Given the description of an element on the screen output the (x, y) to click on. 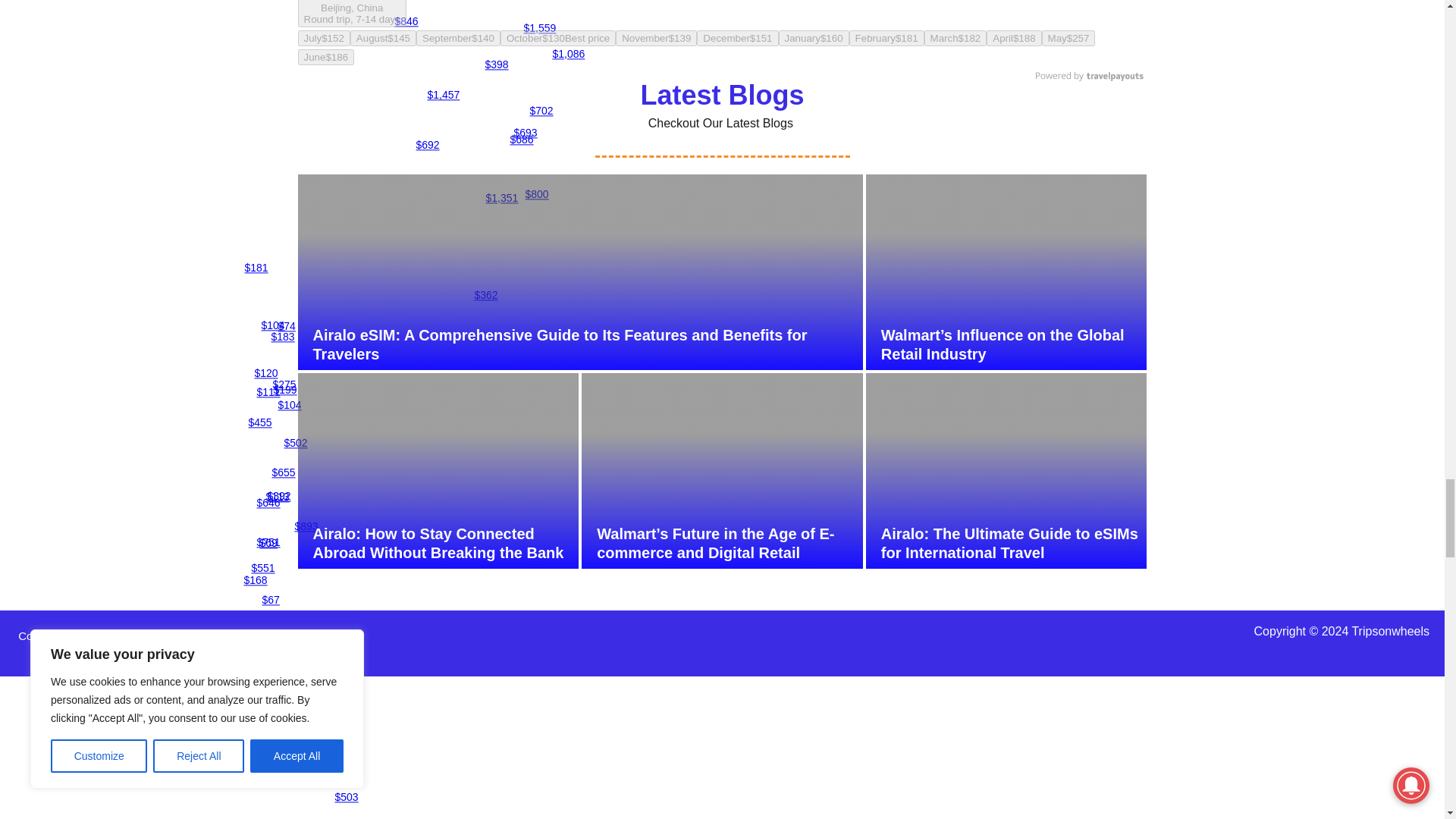
Airalo: The Ultimate Guide to eSIMs for International Travel (1013, 543)
Privacy Policy (116, 635)
Contact us (44, 635)
